Given the description of an element on the screen output the (x, y) to click on. 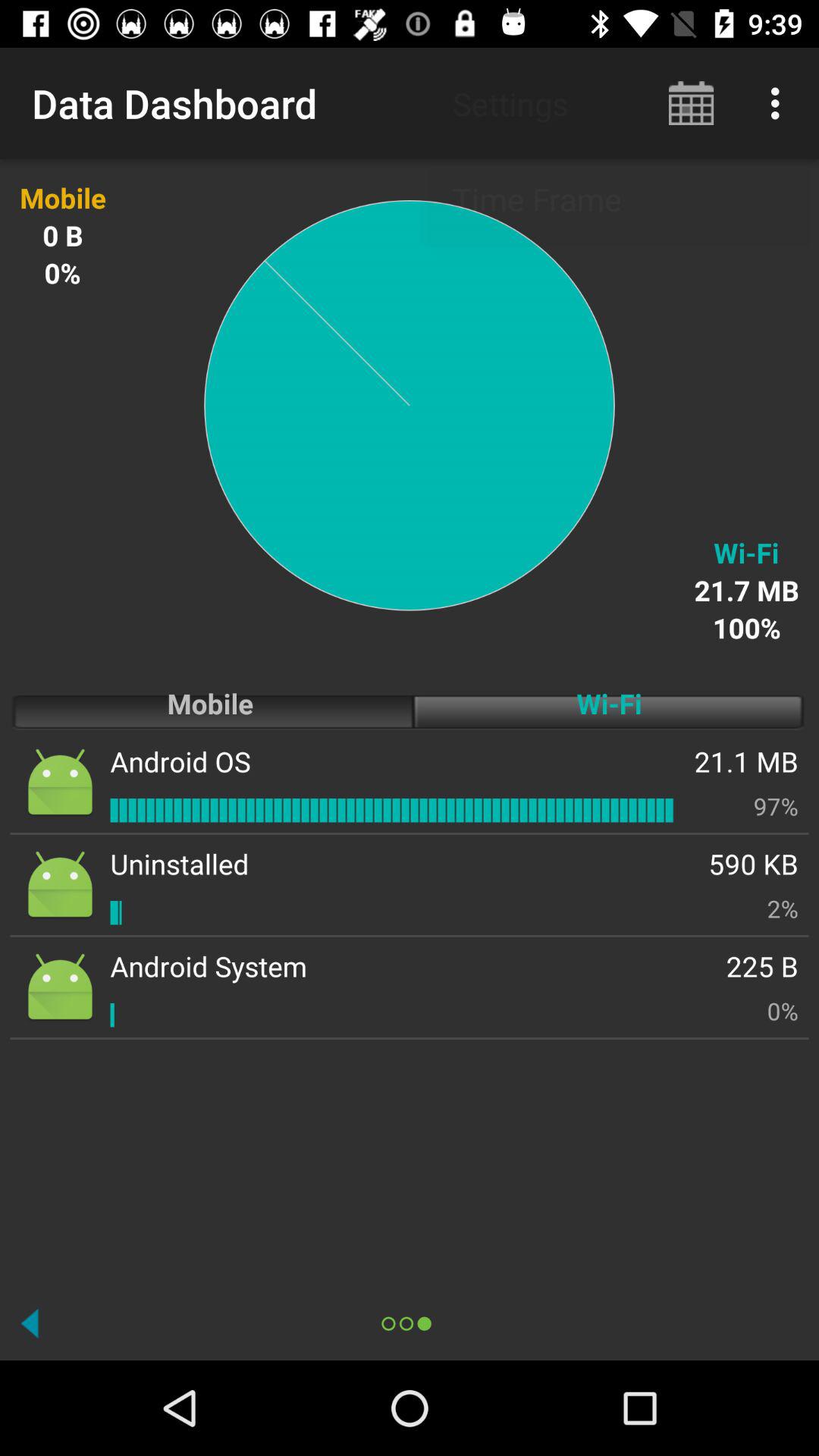
open the icon next to 590 kb app (179, 863)
